Given the description of an element on the screen output the (x, y) to click on. 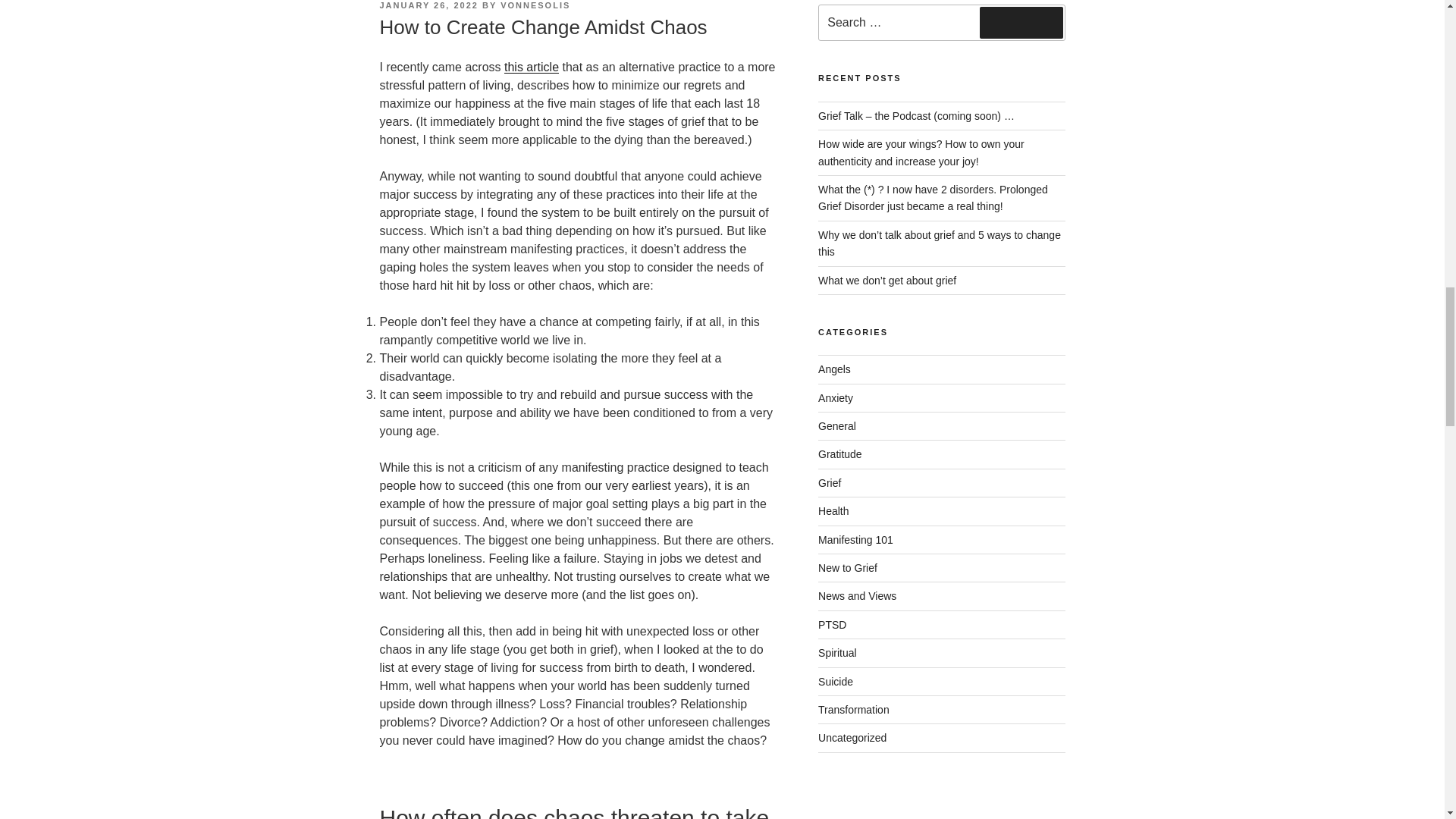
Angels (834, 369)
Anxiety (835, 398)
JANUARY 26, 2022 (427, 4)
this article (531, 66)
General (837, 426)
VONNESOLIS (535, 4)
Gratitude (839, 453)
Search (1020, 22)
